Given the description of an element on the screen output the (x, y) to click on. 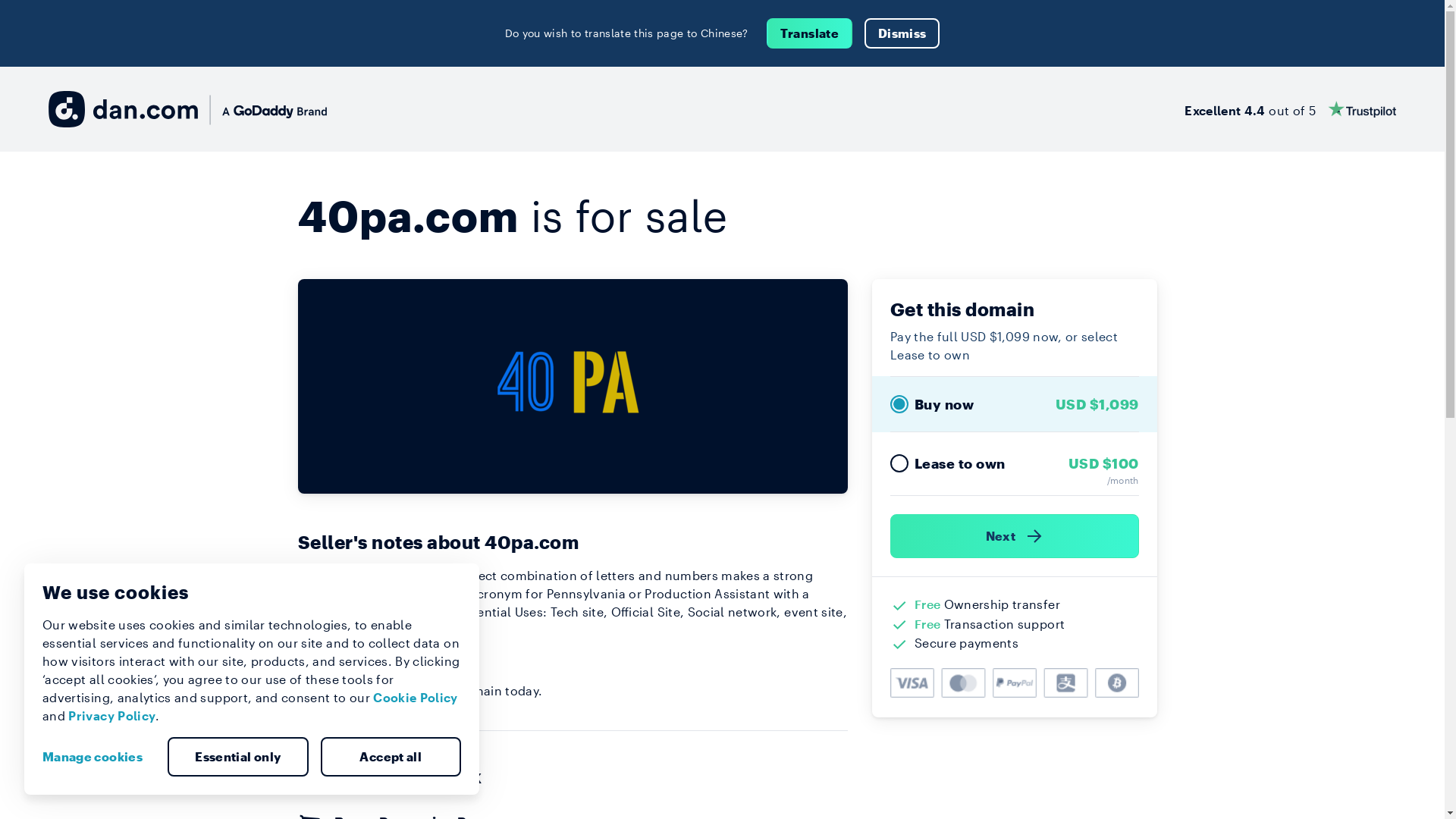
Next
) Element type: text (1014, 536)
Dismiss Element type: text (901, 33)
Privacy Policy Element type: text (111, 715)
Accept all Element type: text (390, 756)
Essential only Element type: text (237, 756)
Cookie Policy Element type: text (415, 697)
Translate Element type: text (809, 33)
Excellent 4.4 out of 5 Element type: text (1290, 109)
Manage cookies Element type: text (98, 756)
